Given the description of an element on the screen output the (x, y) to click on. 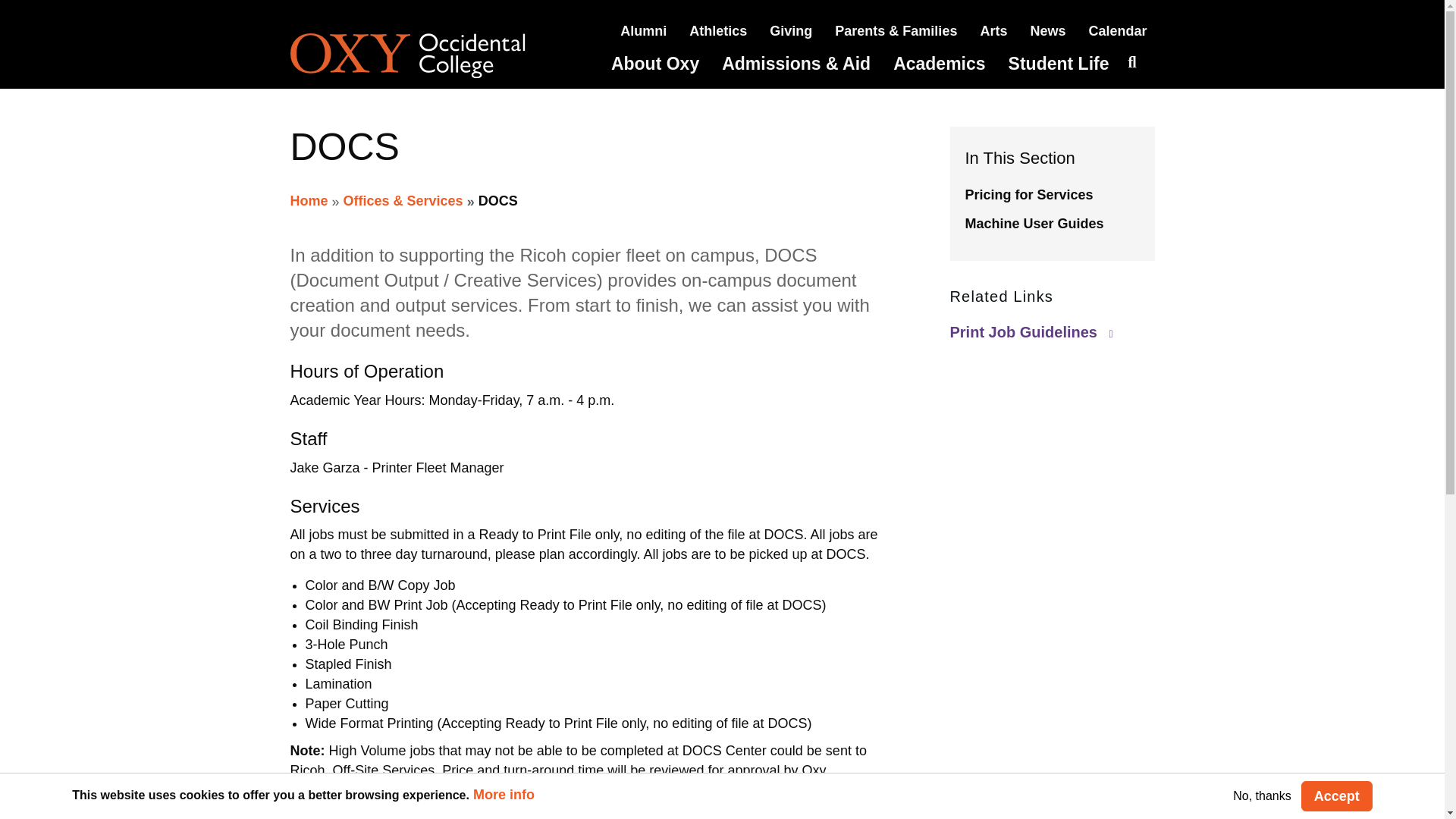
Calendar (1117, 30)
Academics (938, 63)
Athletics (717, 30)
News (1047, 30)
Alumni (643, 30)
Giving (791, 30)
Student Life (1059, 63)
Arts (993, 30)
About Oxy (654, 63)
Home (428, 55)
